Given the description of an element on the screen output the (x, y) to click on. 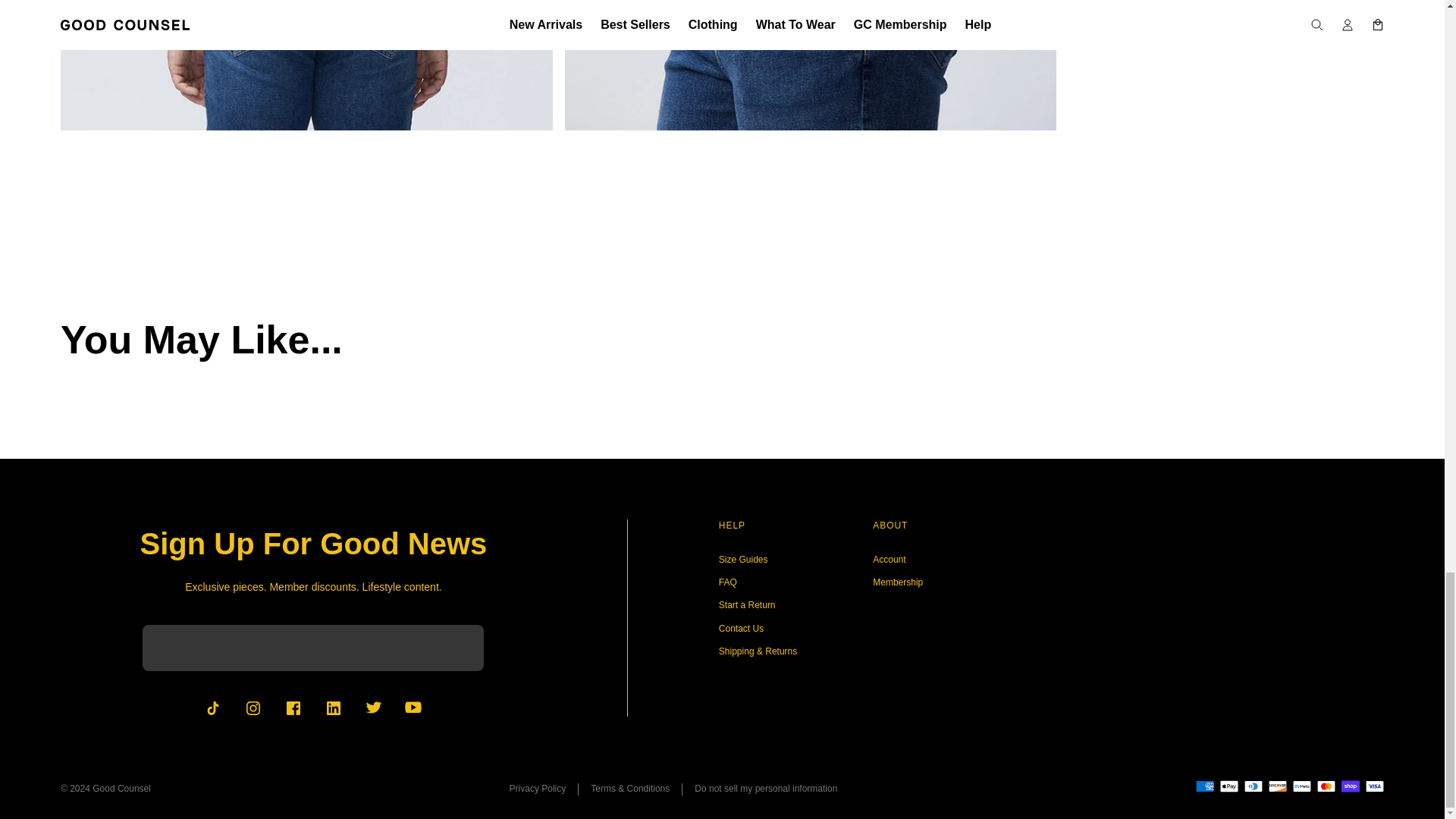
Mastercard (1326, 786)
Shop Pay (1349, 786)
Diners Club (1253, 786)
Visa (1374, 786)
Meta Pay (1301, 786)
Apple Pay (1229, 786)
American Express (1204, 786)
Discover (1277, 786)
